Given the description of an element on the screen output the (x, y) to click on. 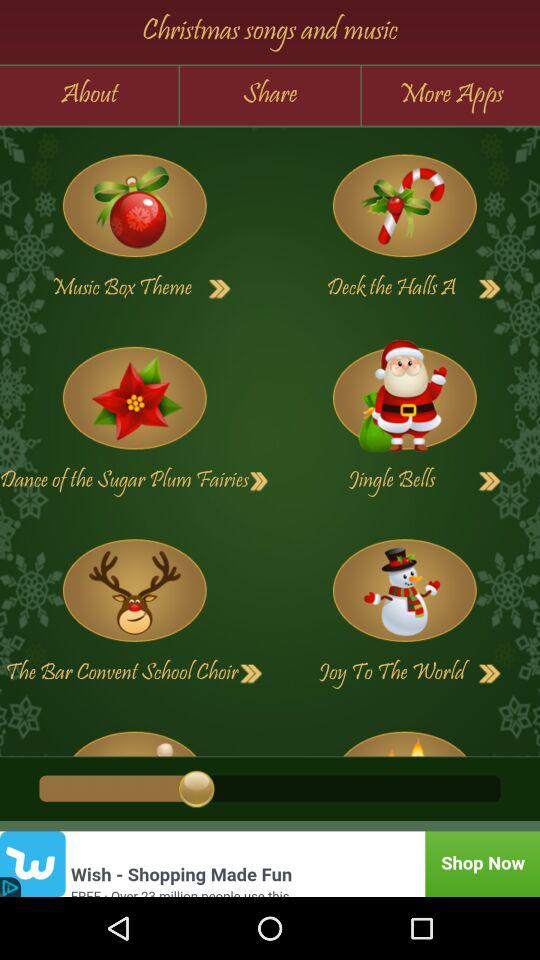
play the bar convent school choir (251, 673)
